Given the description of an element on the screen output the (x, y) to click on. 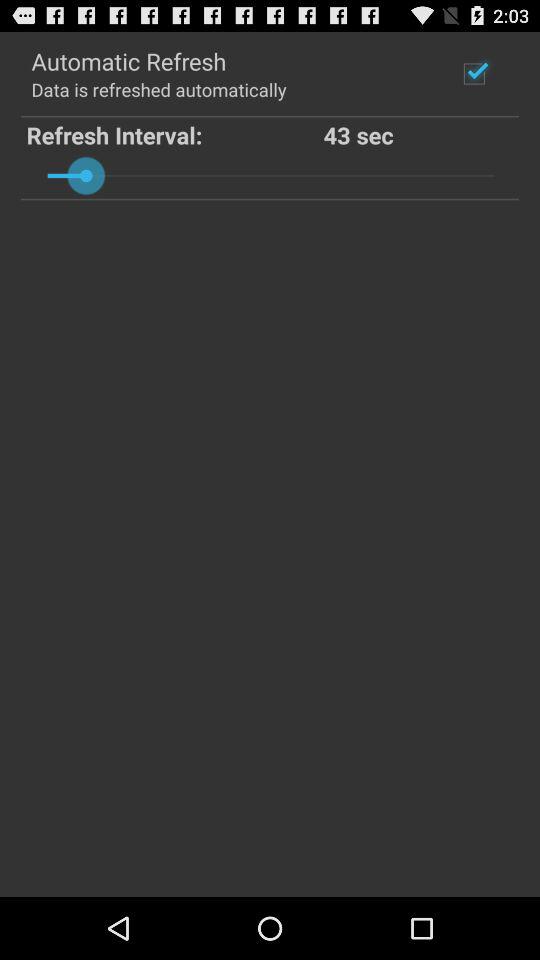
press icon to the left of 43 sec icon (174, 134)
